Given the description of an element on the screen output the (x, y) to click on. 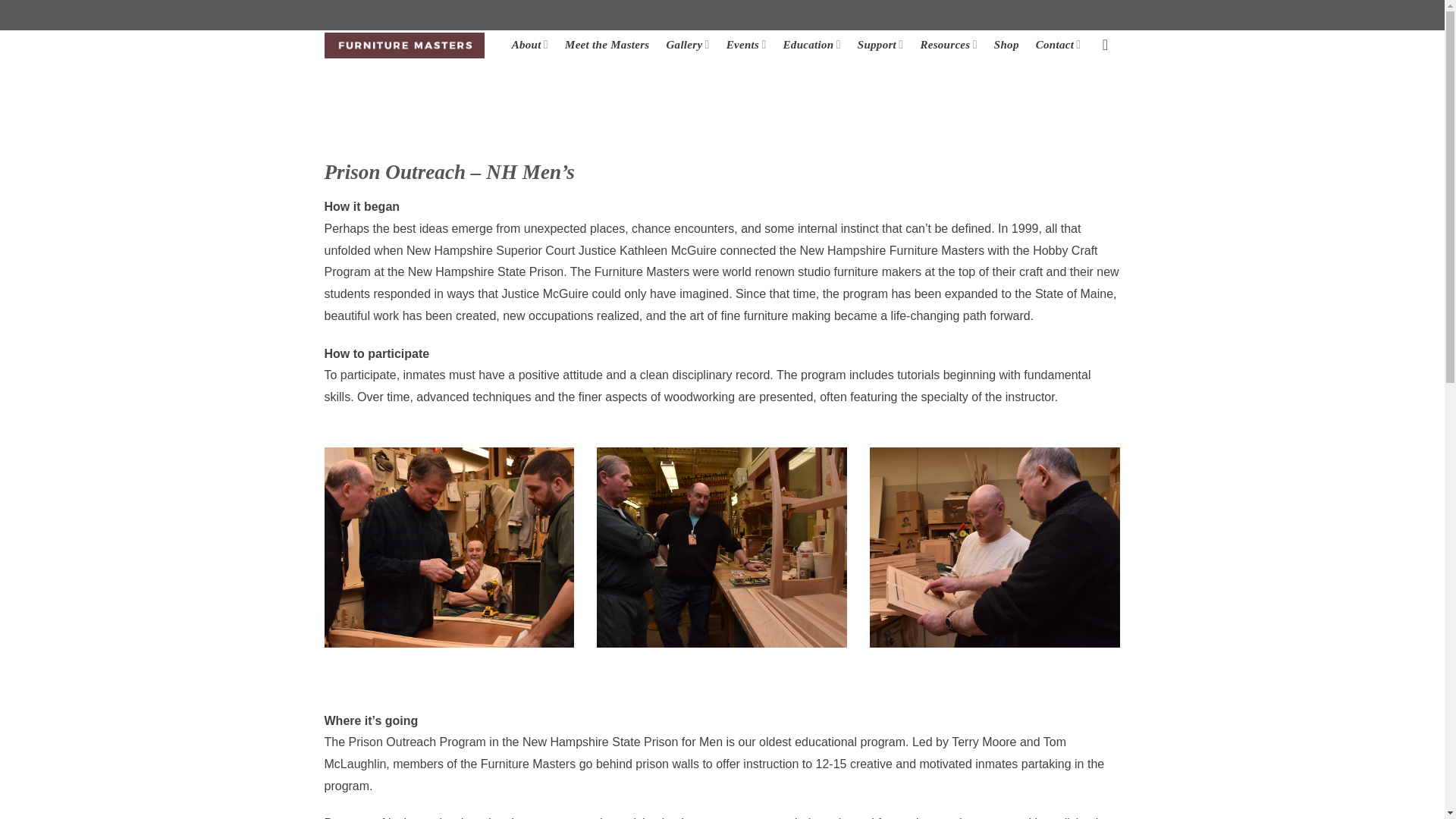
Events (746, 44)
About (530, 44)
Resources (948, 44)
Contact (1058, 44)
Gallery (687, 44)
Furniture Masters (404, 45)
Education (812, 44)
Meet the Masters (606, 44)
Support (880, 44)
